Given the description of an element on the screen output the (x, y) to click on. 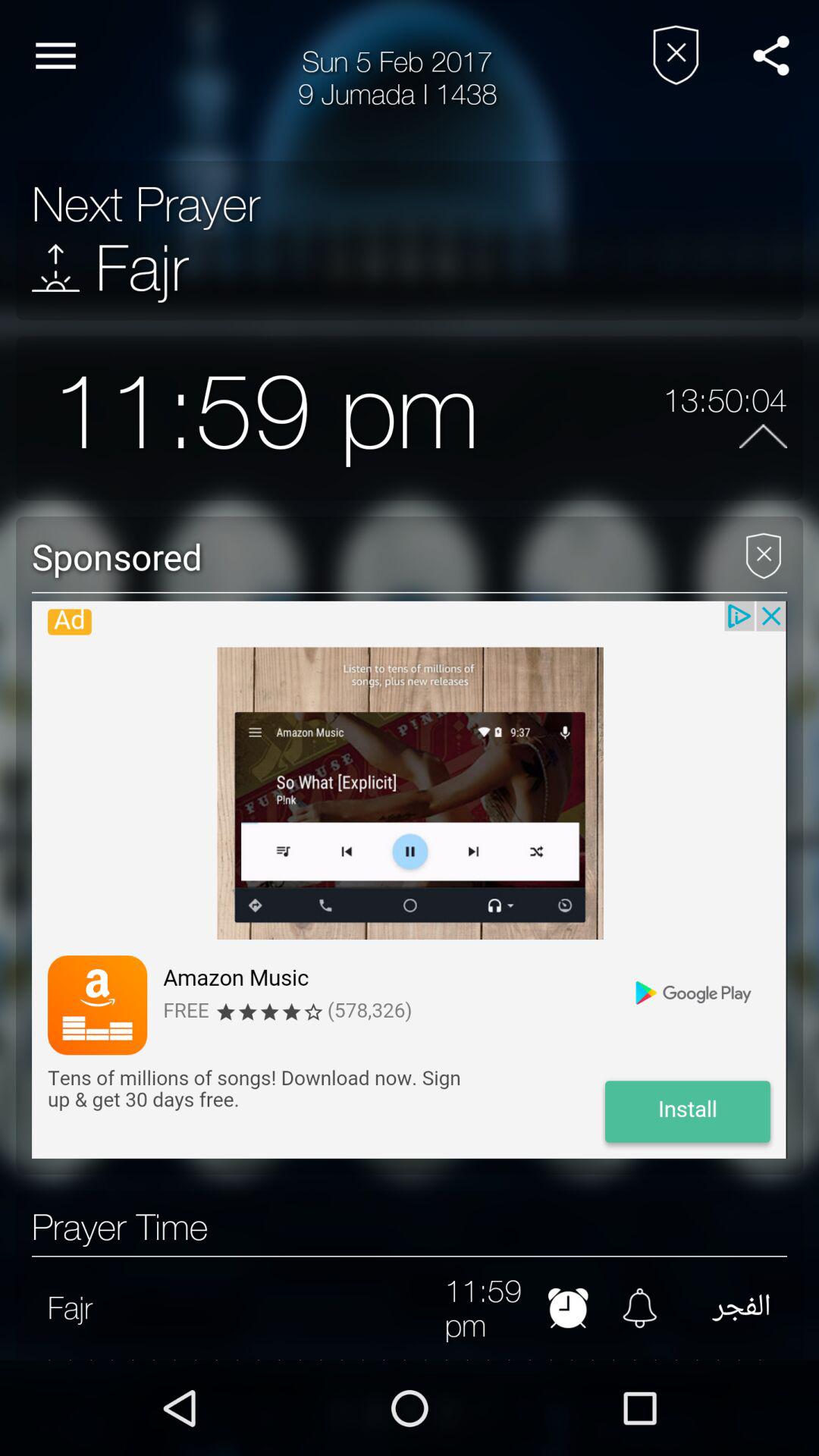
timer (568, 1308)
